Given the description of an element on the screen output the (x, y) to click on. 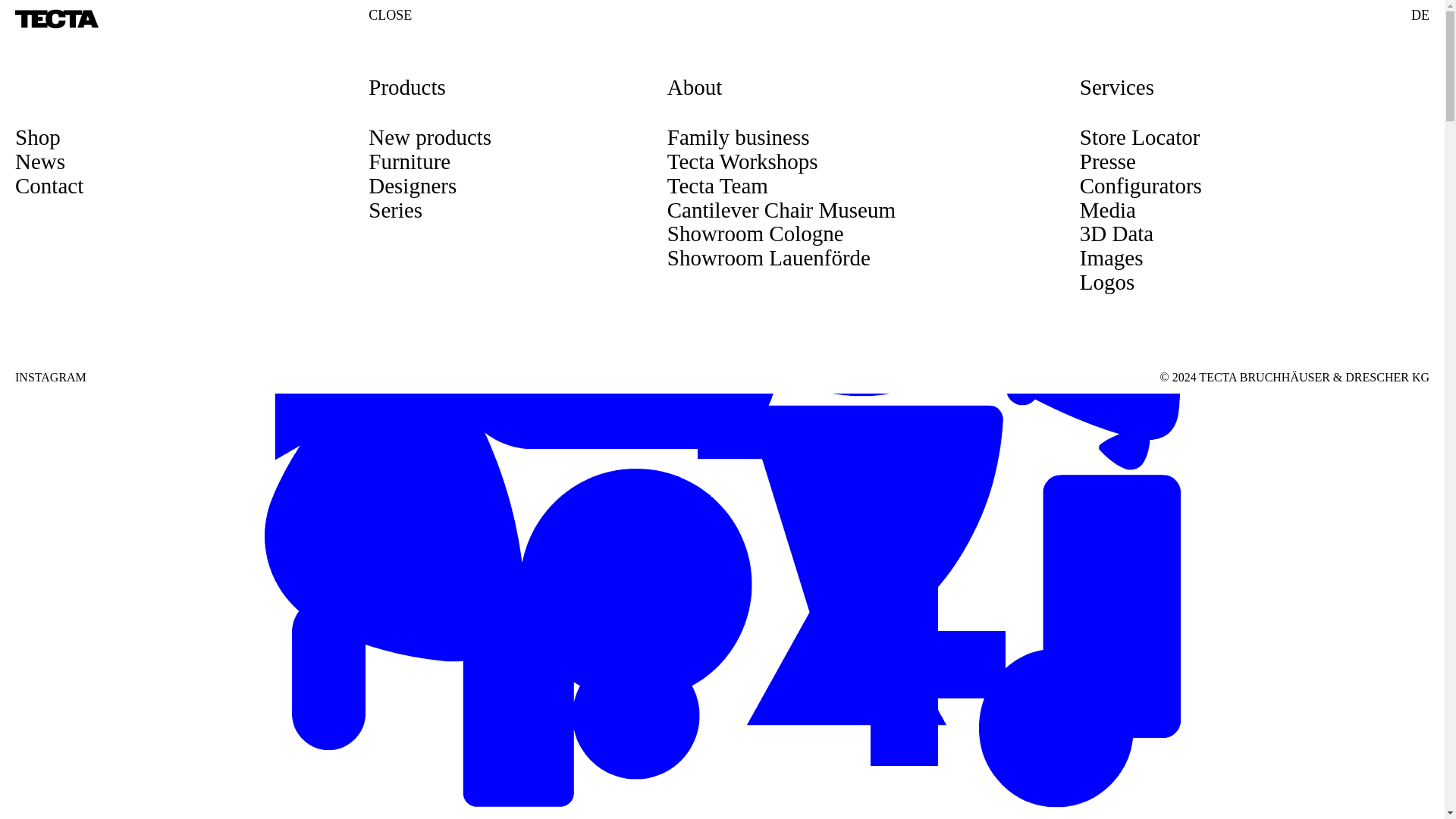
Store Locator (1139, 137)
Cantilever Chair Museum (780, 209)
Contact (48, 185)
Presse (1107, 161)
Images (1111, 257)
Showroom Cologne (755, 233)
Designers (412, 185)
Furniture (408, 161)
Media (1107, 209)
Logos (1107, 282)
